Given the description of an element on the screen output the (x, y) to click on. 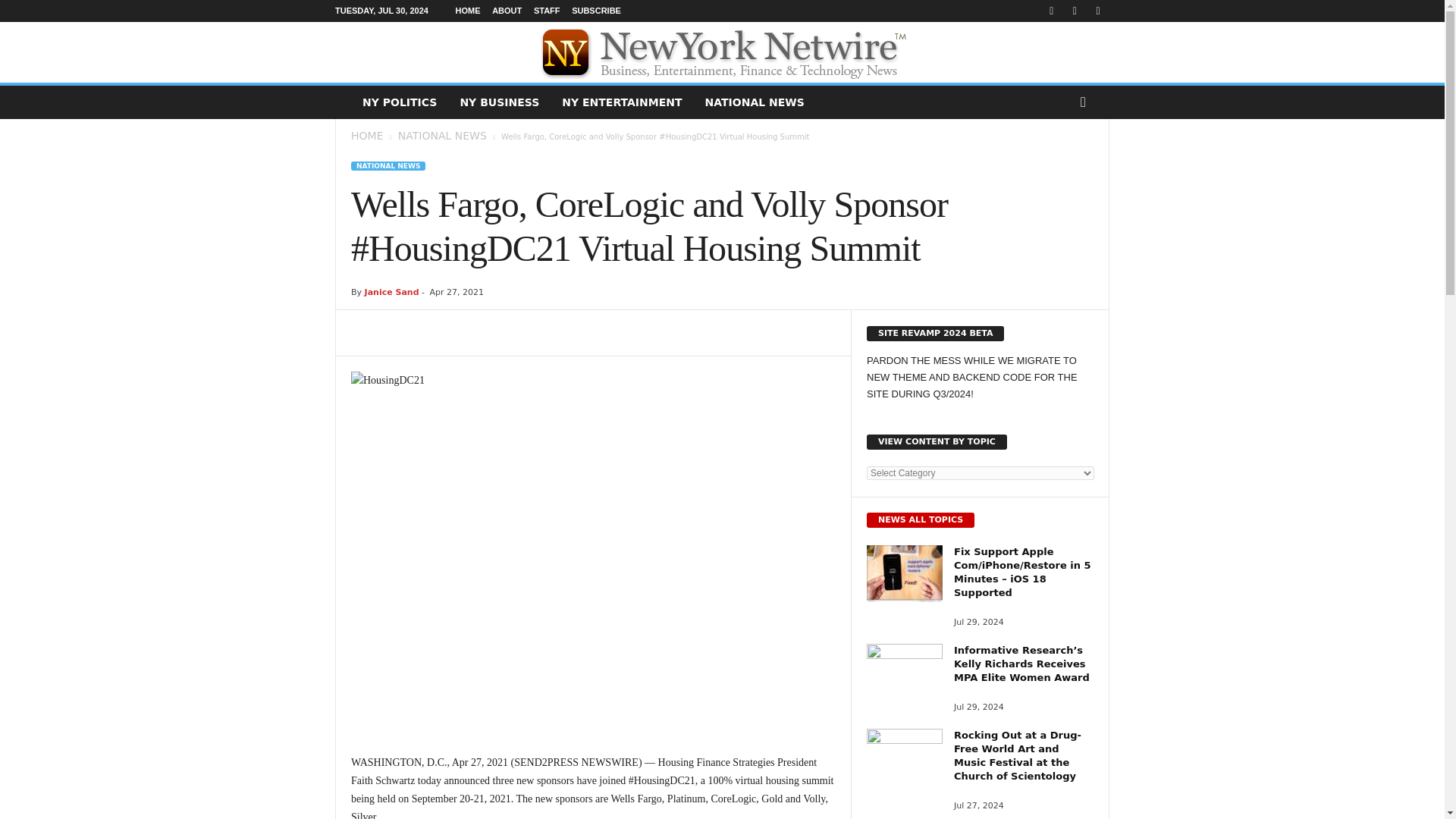
NATIONAL NEWS (441, 135)
View all posts in National News (441, 135)
SUBSCRIBE (596, 10)
NY ENTERTAINMENT (621, 101)
STAFF (547, 10)
Janice Sand (392, 292)
NATIONAL NEWS (387, 165)
NATIONAL NEWS (754, 101)
New York Netwire - NY News (722, 52)
HOME (467, 10)
NY POLITICS (399, 101)
HOME (366, 135)
ABOUT (506, 10)
NY BUSINESS (499, 101)
